Given the description of an element on the screen output the (x, y) to click on. 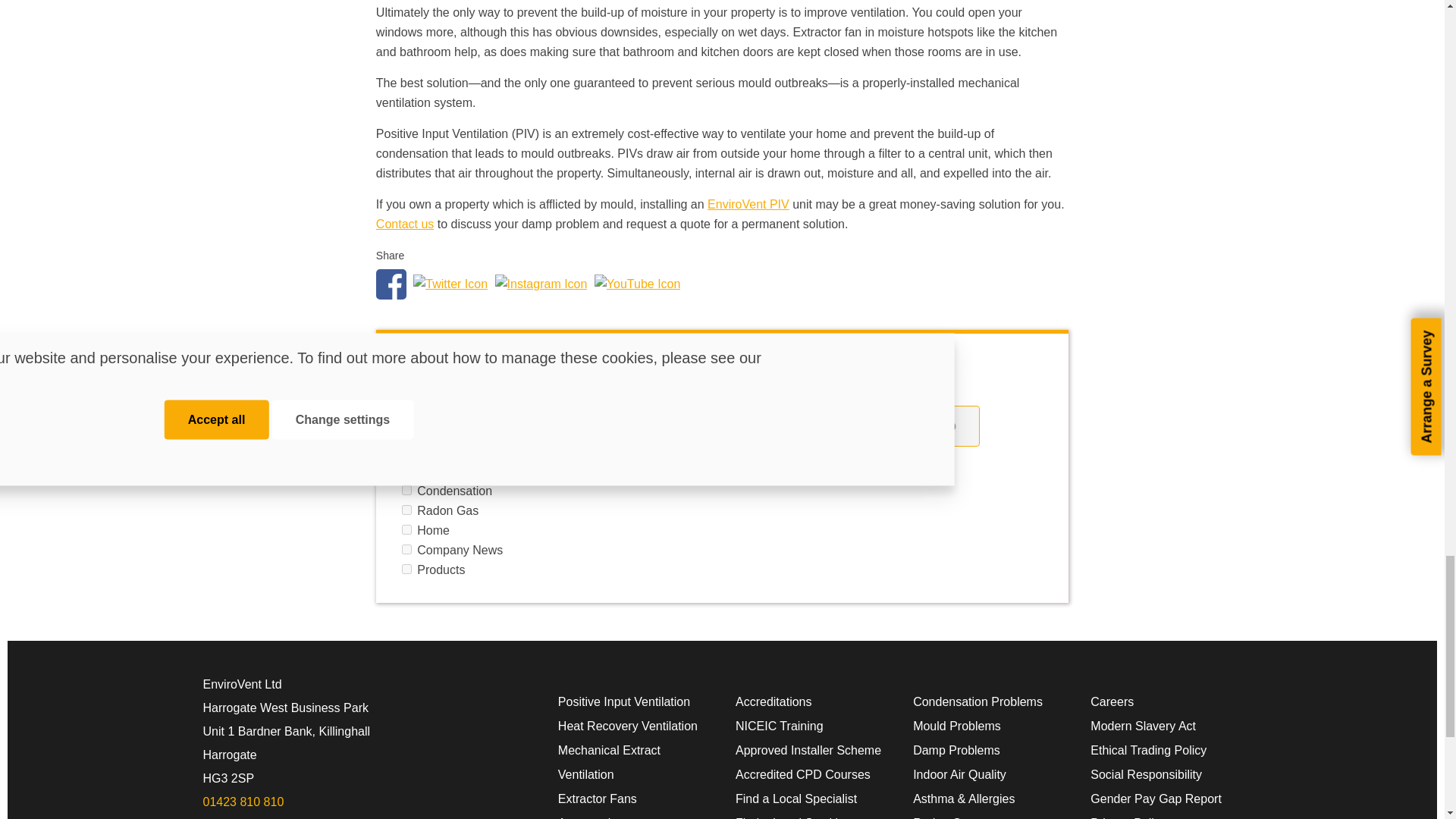
Ventilation (406, 430)
Company News (406, 549)
Products (406, 569)
Allergies (406, 411)
Home (406, 529)
Damp (406, 450)
Radon Gas (406, 510)
Condensation (406, 490)
New Build (406, 391)
Mould (406, 470)
